Given the description of an element on the screen output the (x, y) to click on. 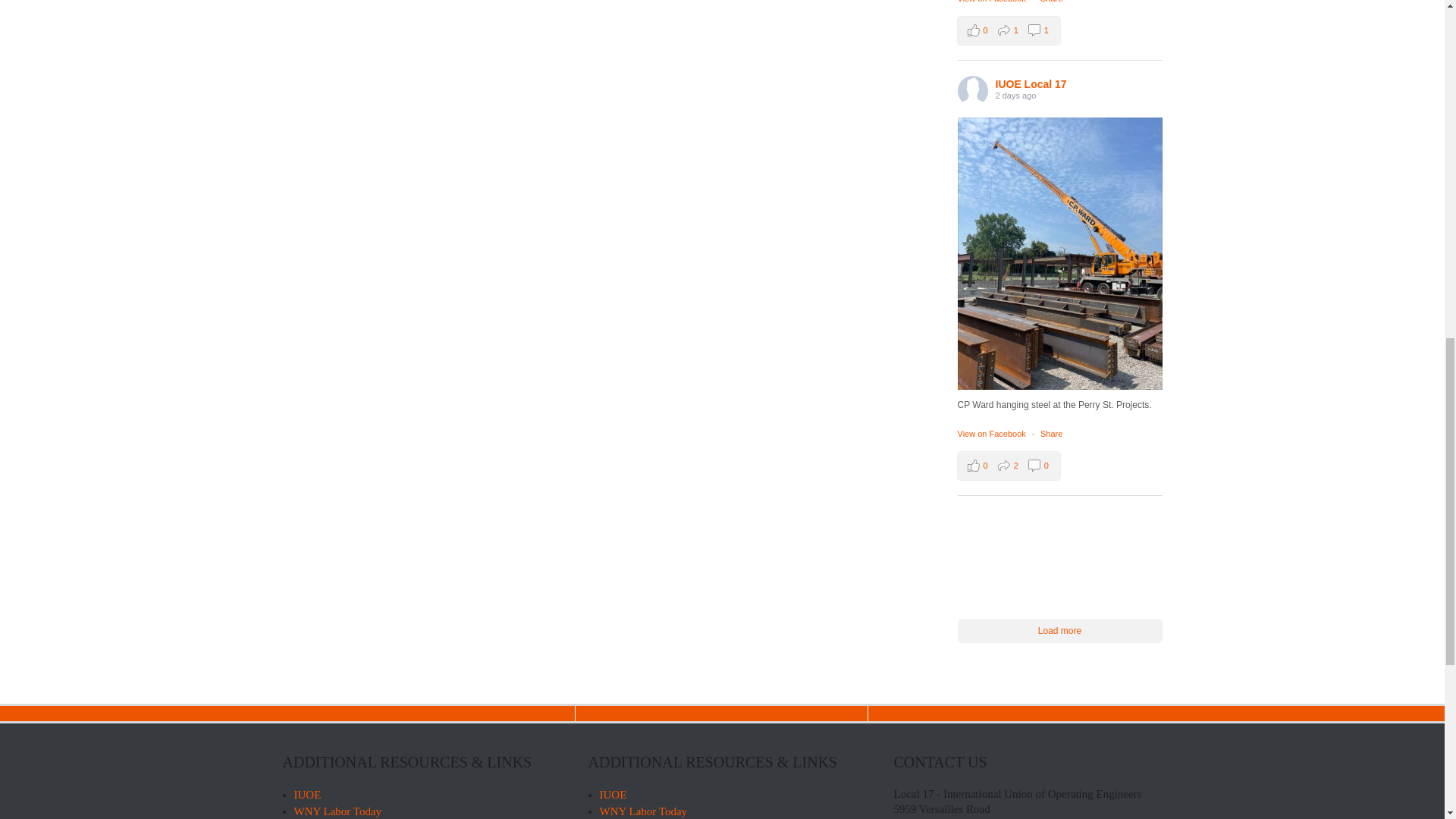
Share (1051, 1)
Share (1051, 433)
View on Facebook (991, 1)
View on Facebook (1007, 30)
View on Facebook (991, 1)
Share (991, 433)
Likebox Content (1051, 1)
